Given the description of an element on the screen output the (x, y) to click on. 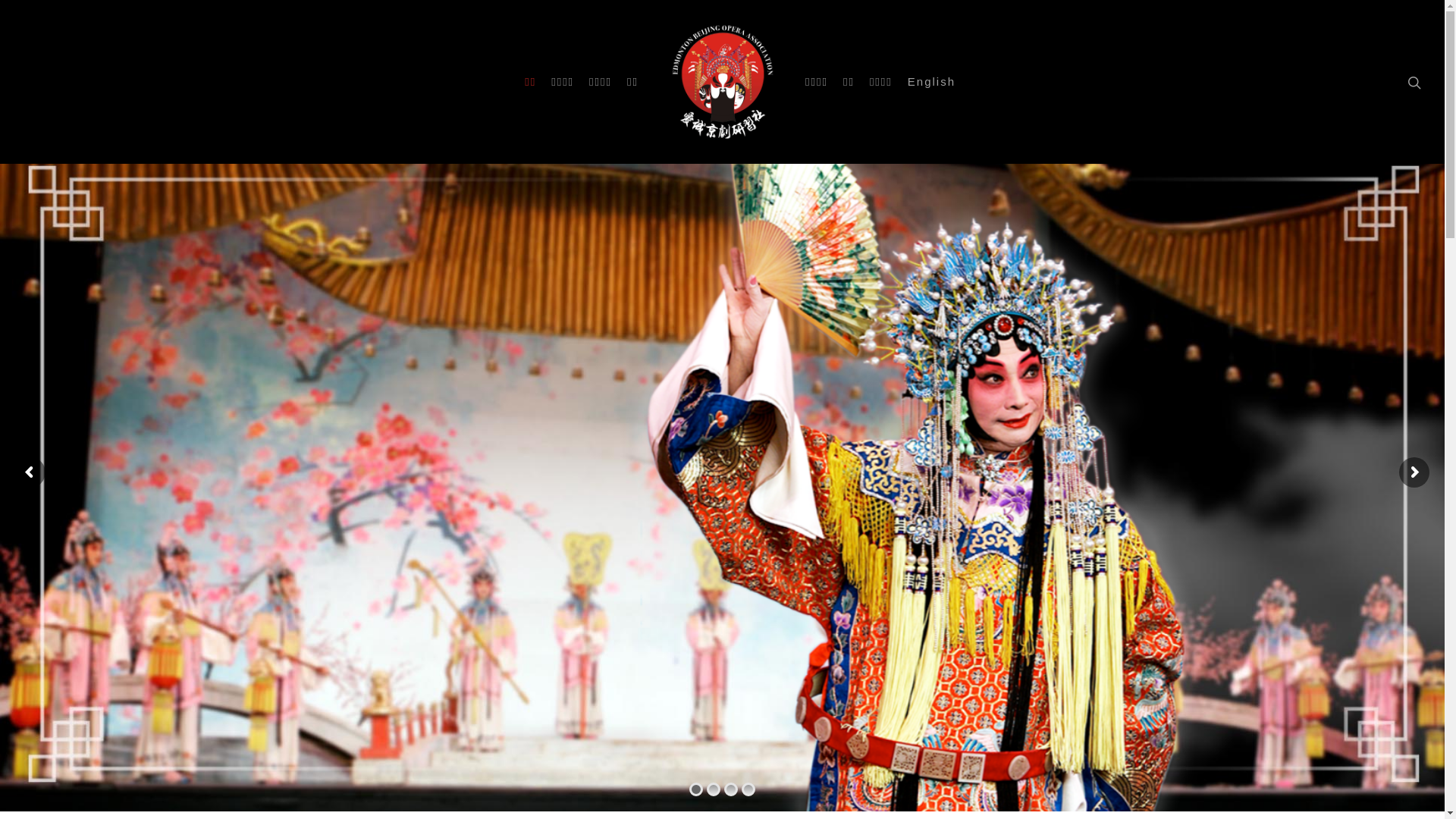
English Element type: text (931, 81)
